Given the description of an element on the screen output the (x, y) to click on. 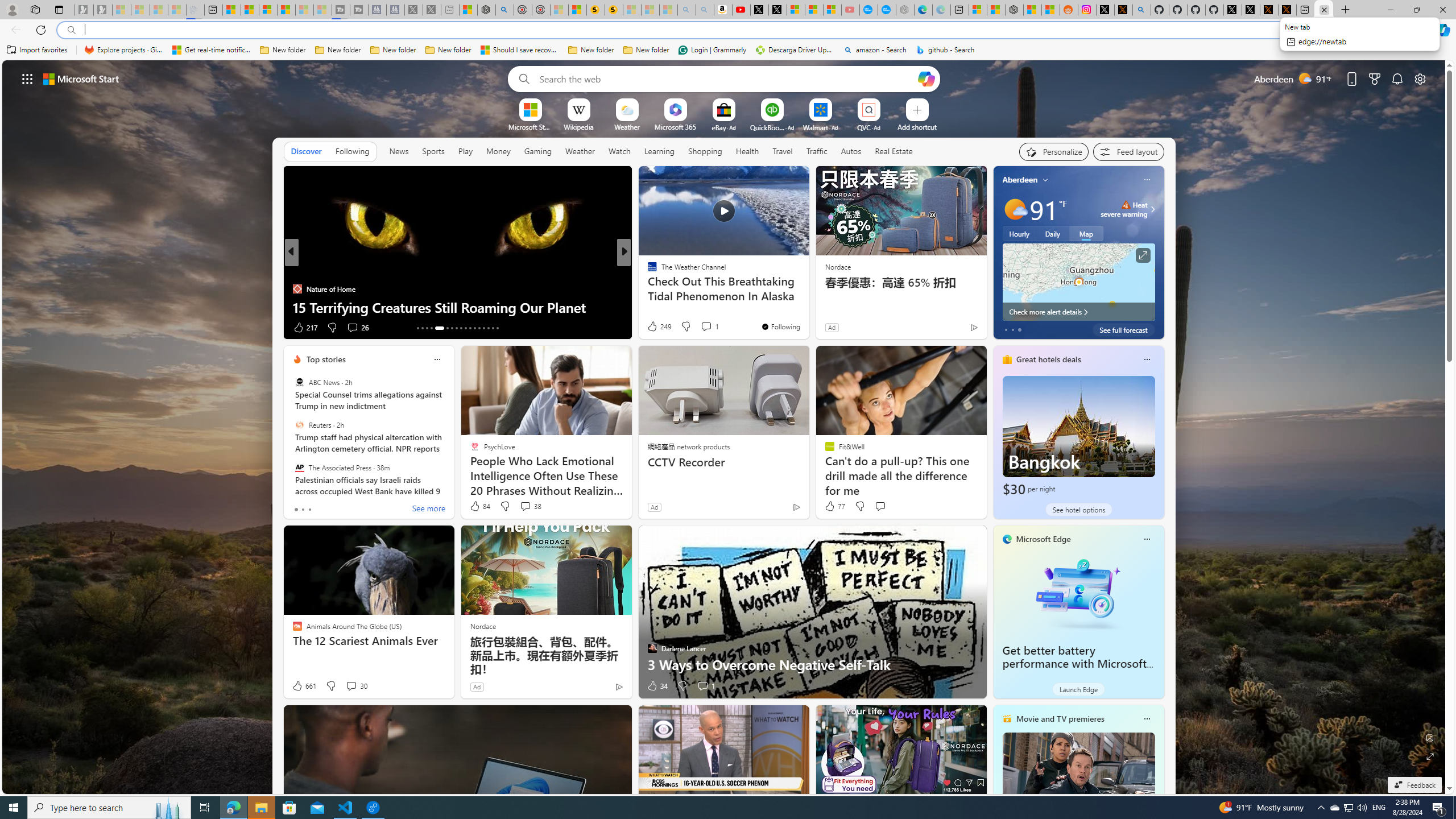
View comments 8 Comment (698, 327)
Mostly sunny (1014, 208)
AutomationID: tab-14 (422, 328)
View comments 1 Comment (705, 685)
Nature of Home (296, 288)
32 Like (652, 327)
Map (1085, 233)
GitHub (@github) / X (1251, 9)
